Given the description of an element on the screen output the (x, y) to click on. 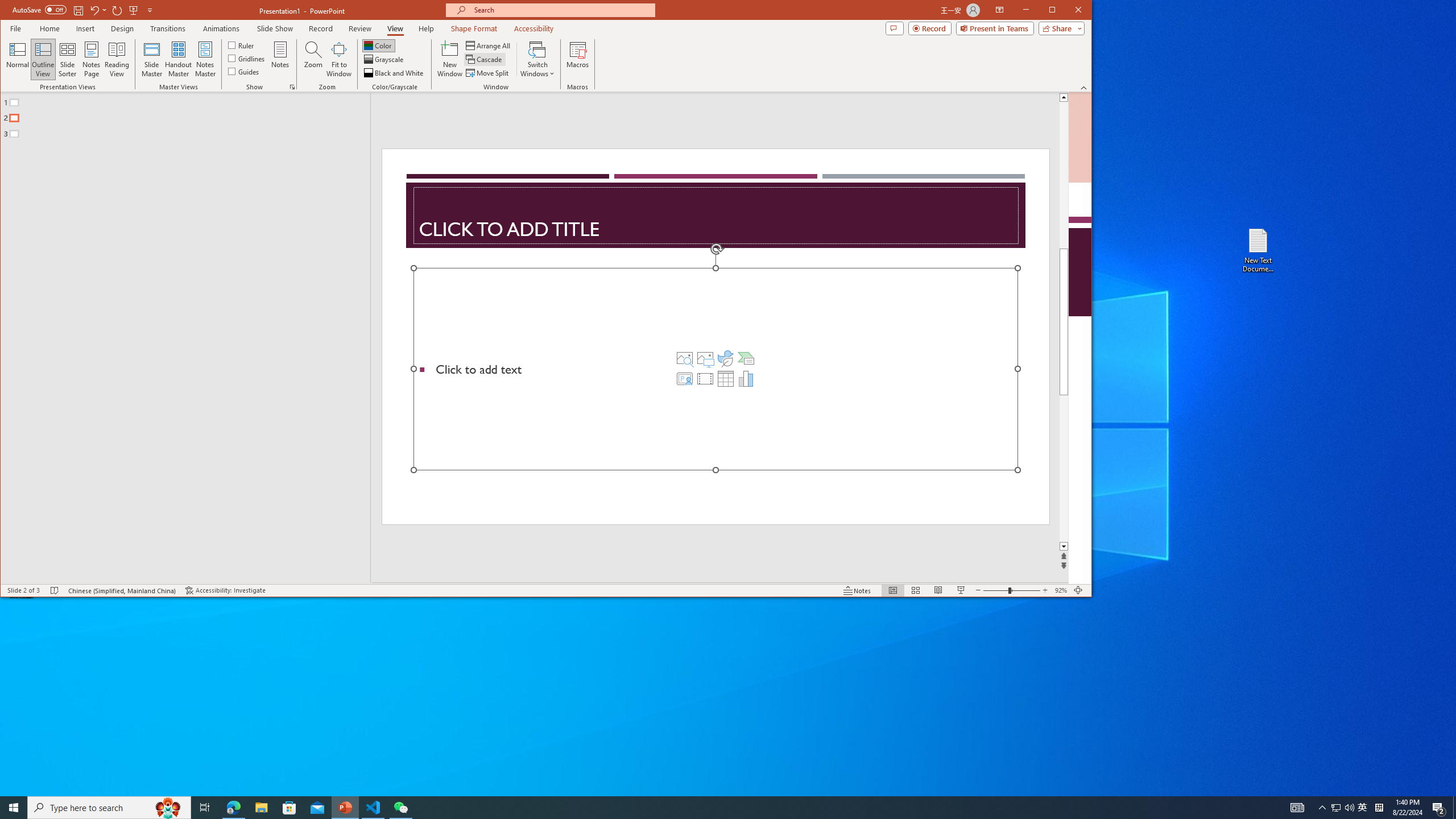
Slide Master (151, 59)
Black and White (394, 72)
Pictures (704, 357)
Content Placeholder (715, 369)
Zoom 92% (1060, 590)
